Given the description of an element on the screen output the (x, y) to click on. 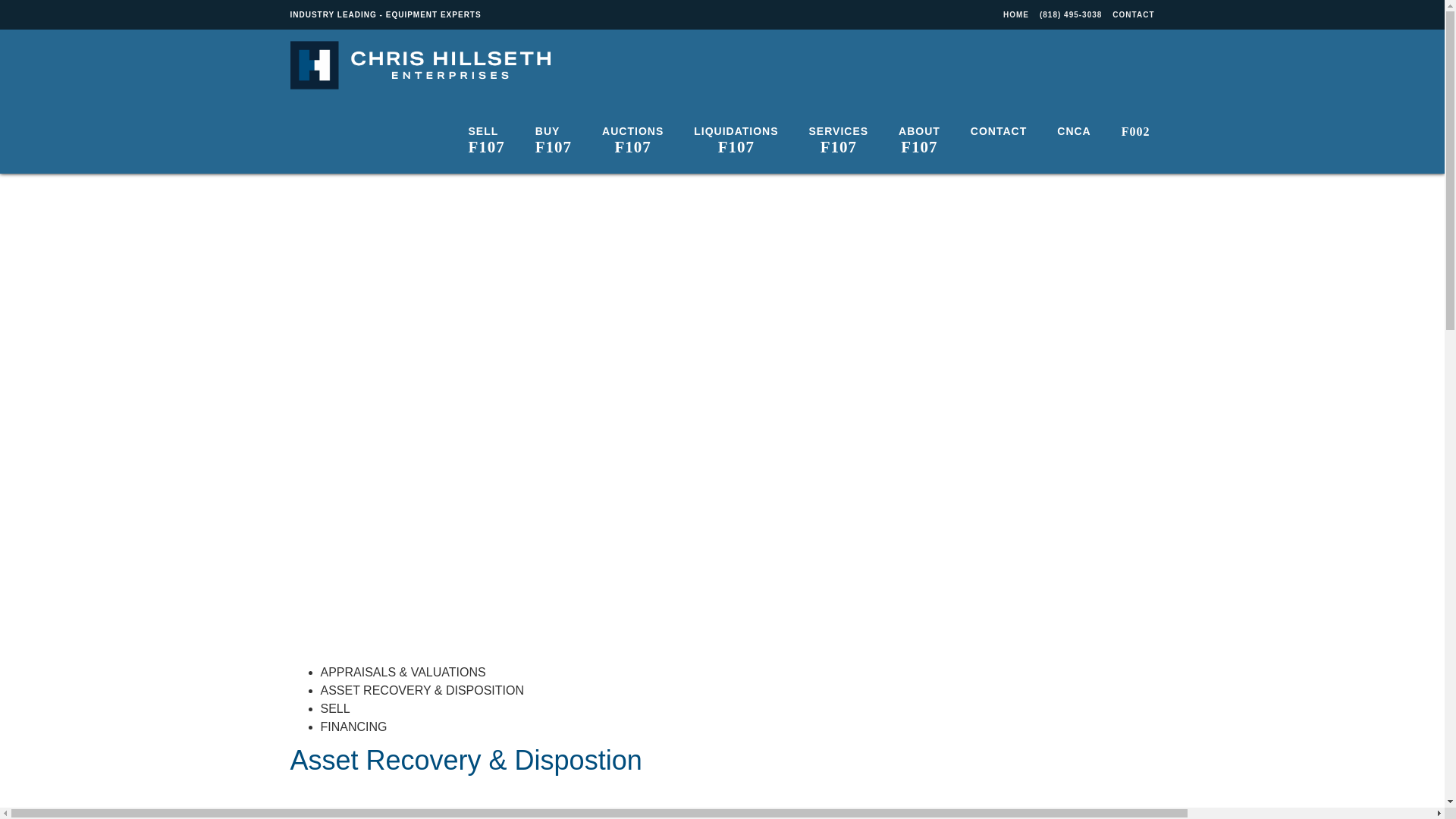
Chris Hillseth Enterprises Home (1016, 14)
CNCA (1073, 129)
Sell (485, 136)
SERVICES (838, 136)
SELL (334, 707)
ABOUT (919, 136)
CONTACT (1133, 14)
Liquidations (735, 136)
Call Us (1070, 14)
Auctions (632, 136)
FINANCING (353, 726)
BUY (552, 136)
CONTACT (1133, 14)
BUY (552, 136)
CONTACT (998, 129)
